Given the description of an element on the screen output the (x, y) to click on. 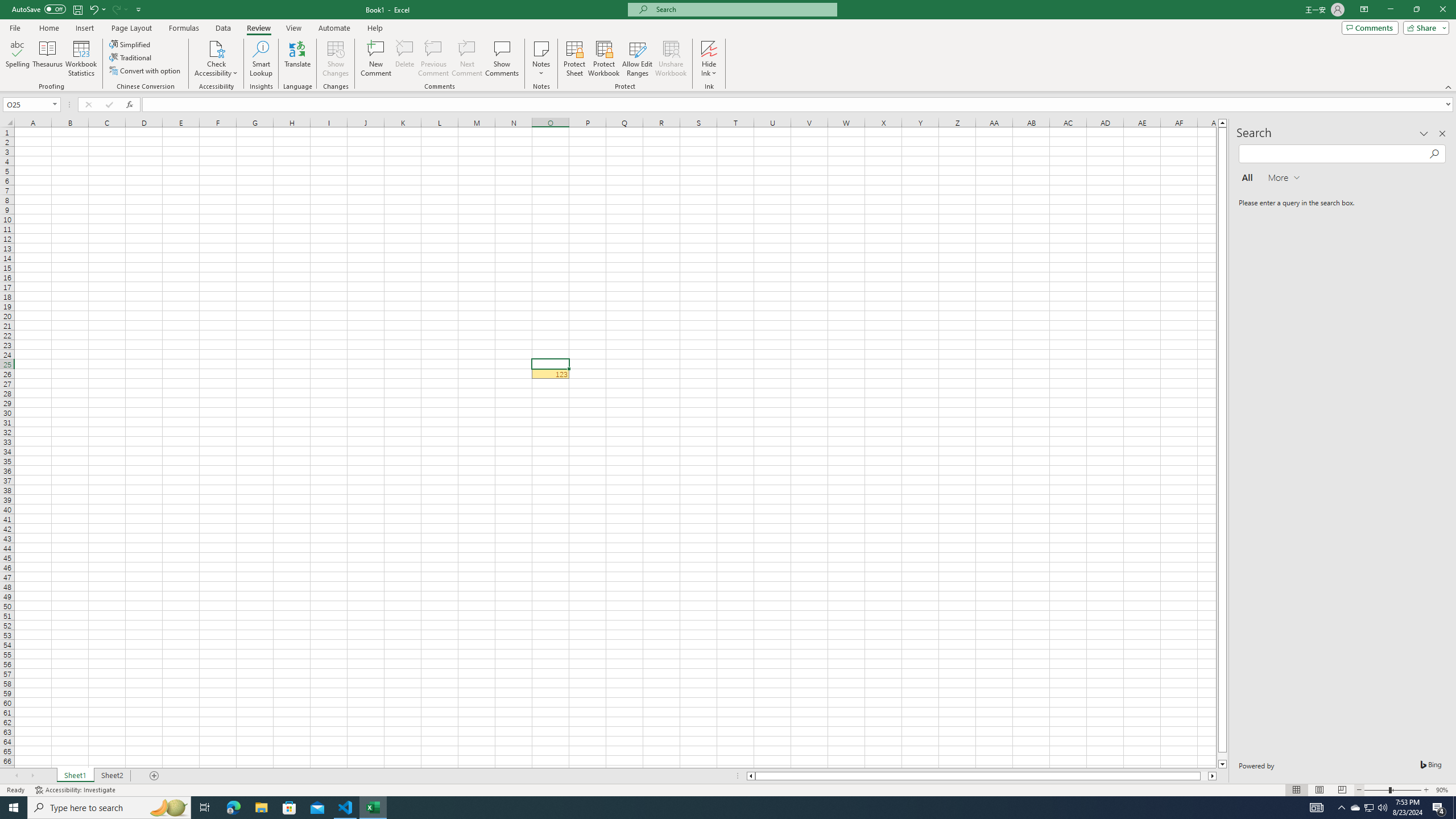
Notes (541, 58)
Workbook Statistics (81, 58)
